Given the description of an element on the screen output the (x, y) to click on. 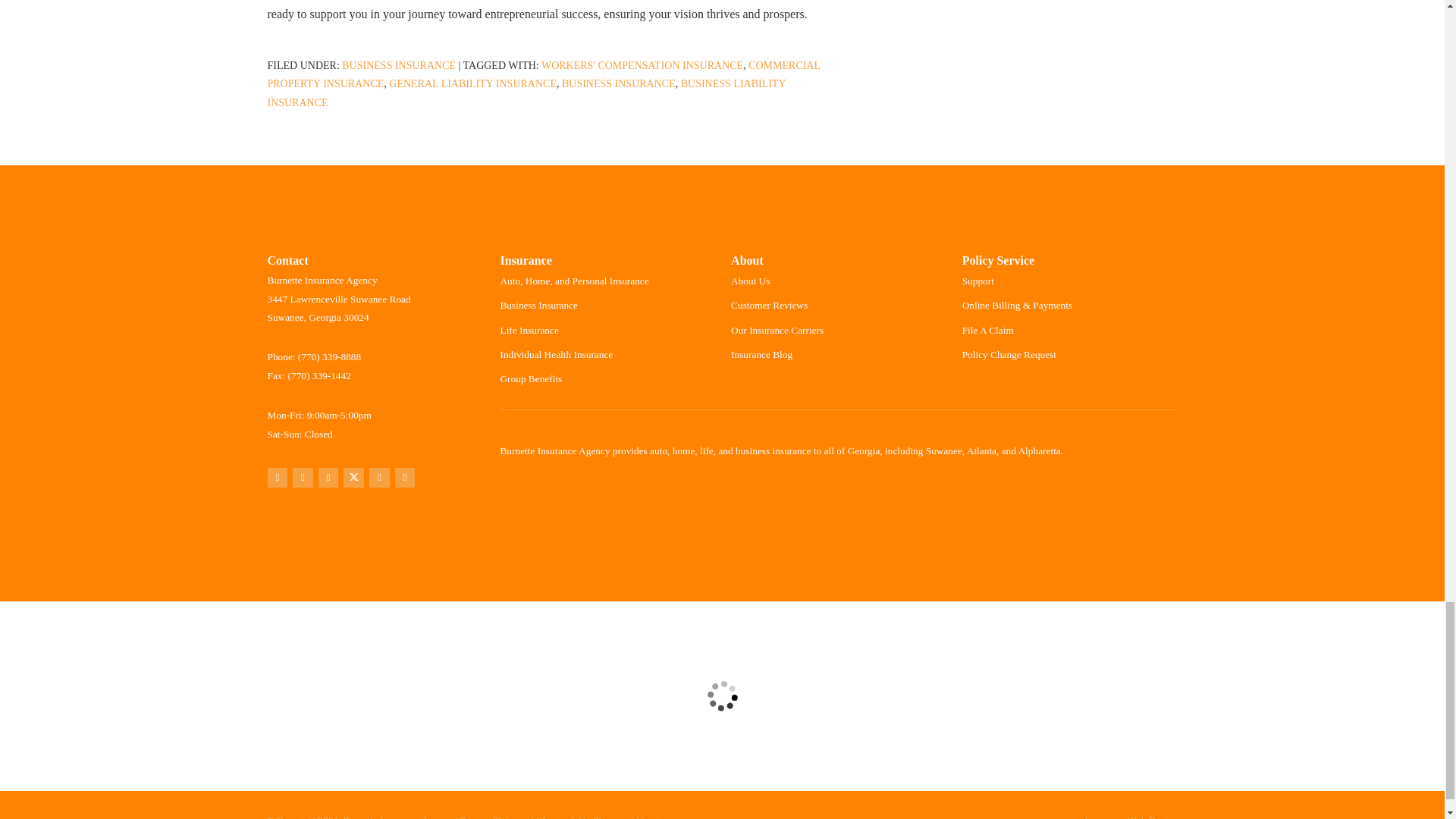
Yelp (302, 477)
Facebook (328, 477)
Commercial Property Insurance (542, 74)
LinkedIn (379, 477)
Business Insurance (618, 83)
Workers' Compensation Insurance (641, 65)
General Liability Insurance (472, 83)
Google Maps (276, 477)
X (353, 477)
Business Liability Insurance (526, 92)
Business Insurance (398, 65)
